Given the description of an element on the screen output the (x, y) to click on. 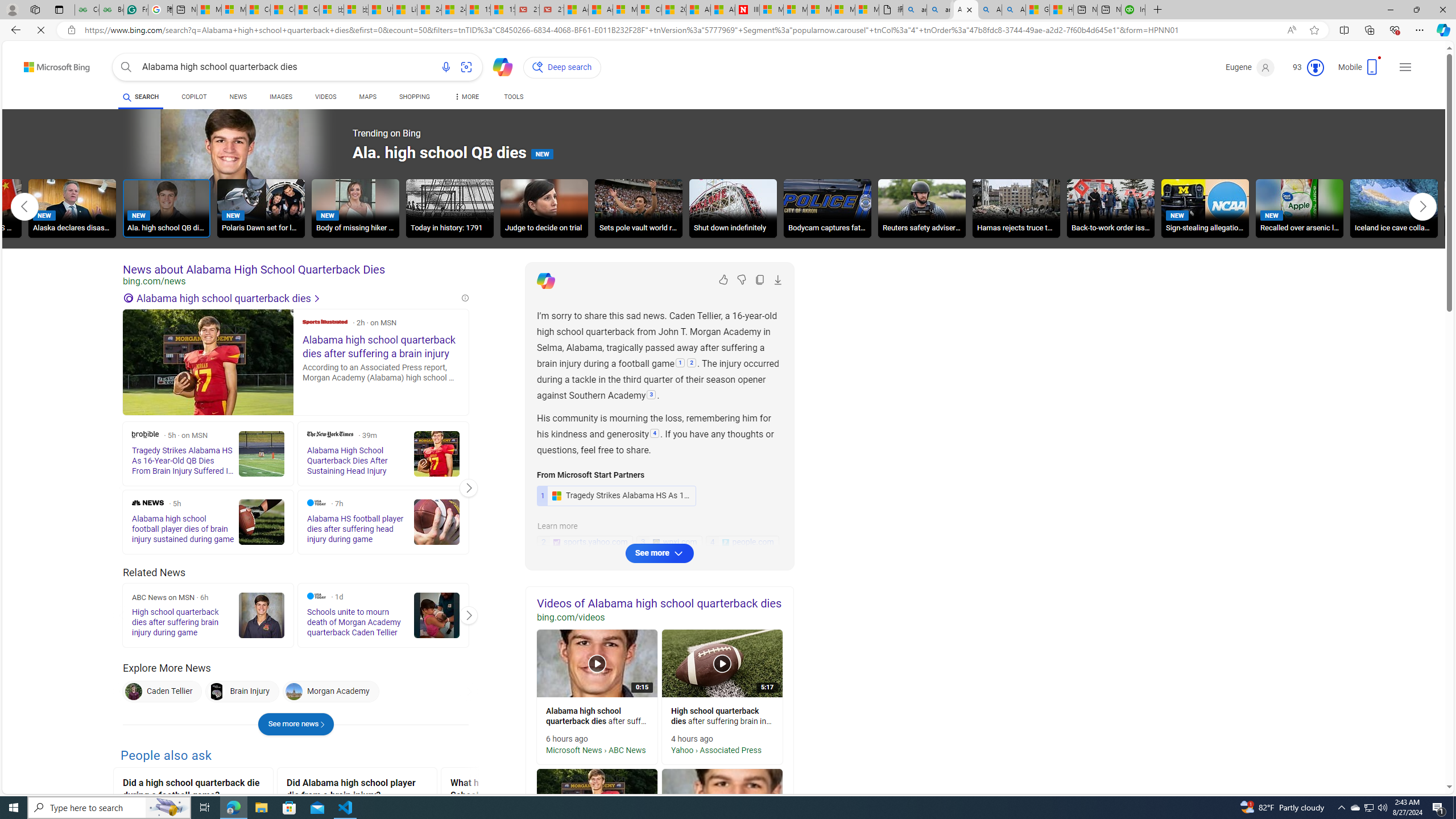
Videos of Alabama high school quarterback dies (660, 603)
1:  (679, 363)
Search more (1423, 753)
2:  (691, 363)
